Given the description of an element on the screen output the (x, y) to click on. 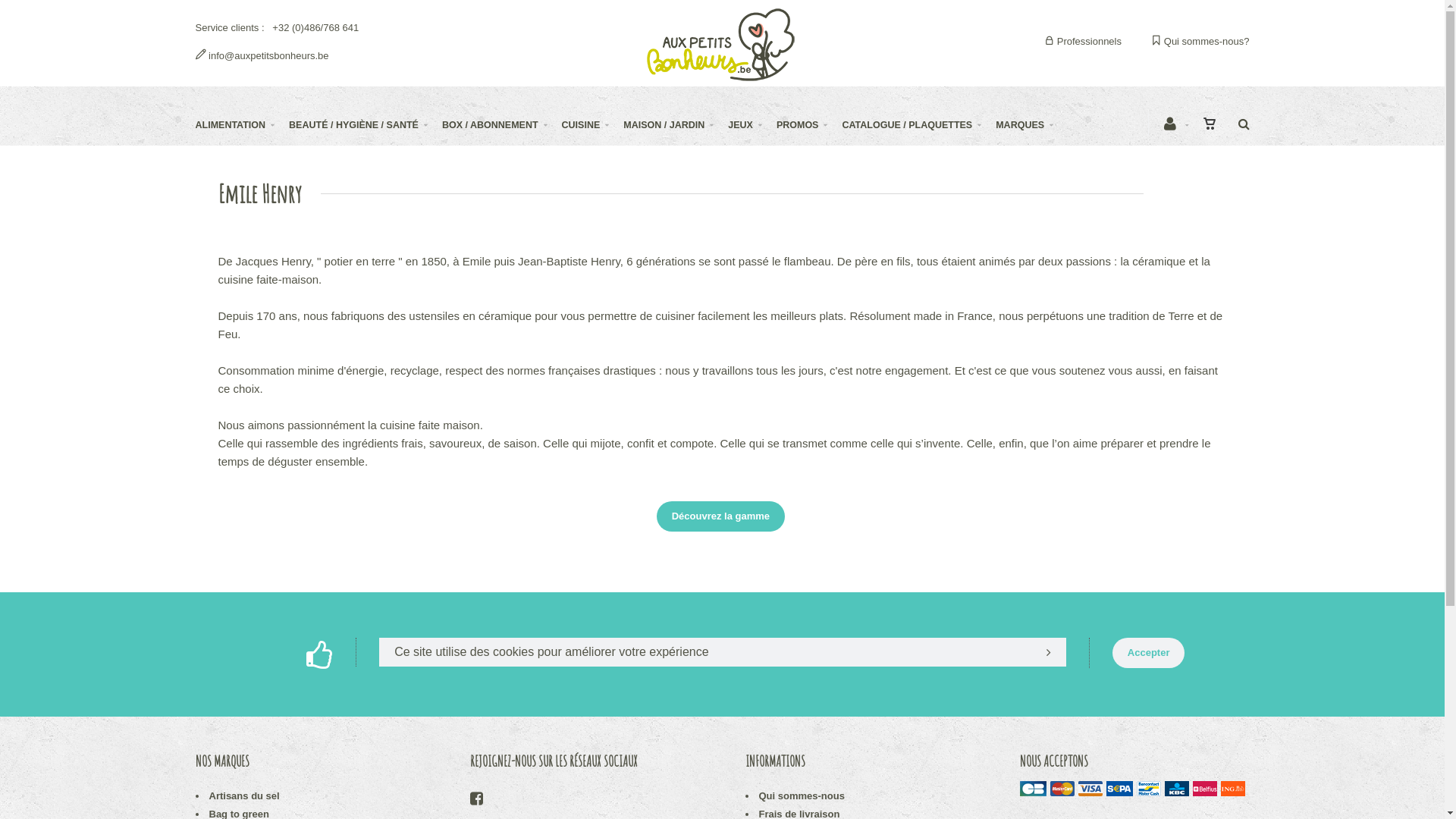
Service clients :   +32 (0)486/768 641 Element type: text (277, 27)
PROMOS Element type: text (809, 124)
Professionnels Element type: text (1082, 41)
MAISON / JARDIN Element type: text (675, 124)
BOX / ABONNEMENT Element type: text (501, 124)
Qui sommes-nous? Element type: text (1199, 41)
CUISINE Element type: text (592, 124)
Accepter Element type: text (1148, 652)
Artisans du sel Element type: text (244, 795)
info@auxpetitsbonheurs.be Element type: text (262, 54)
JEUX Element type: text (752, 124)
Qui sommes-nous Element type: text (801, 795)
CATALOGUE / PLAQUETTES Element type: text (918, 124)
MARQUES Element type: text (1031, 124)
ALIMENTATION Element type: text (242, 124)
